Given the description of an element on the screen output the (x, y) to click on. 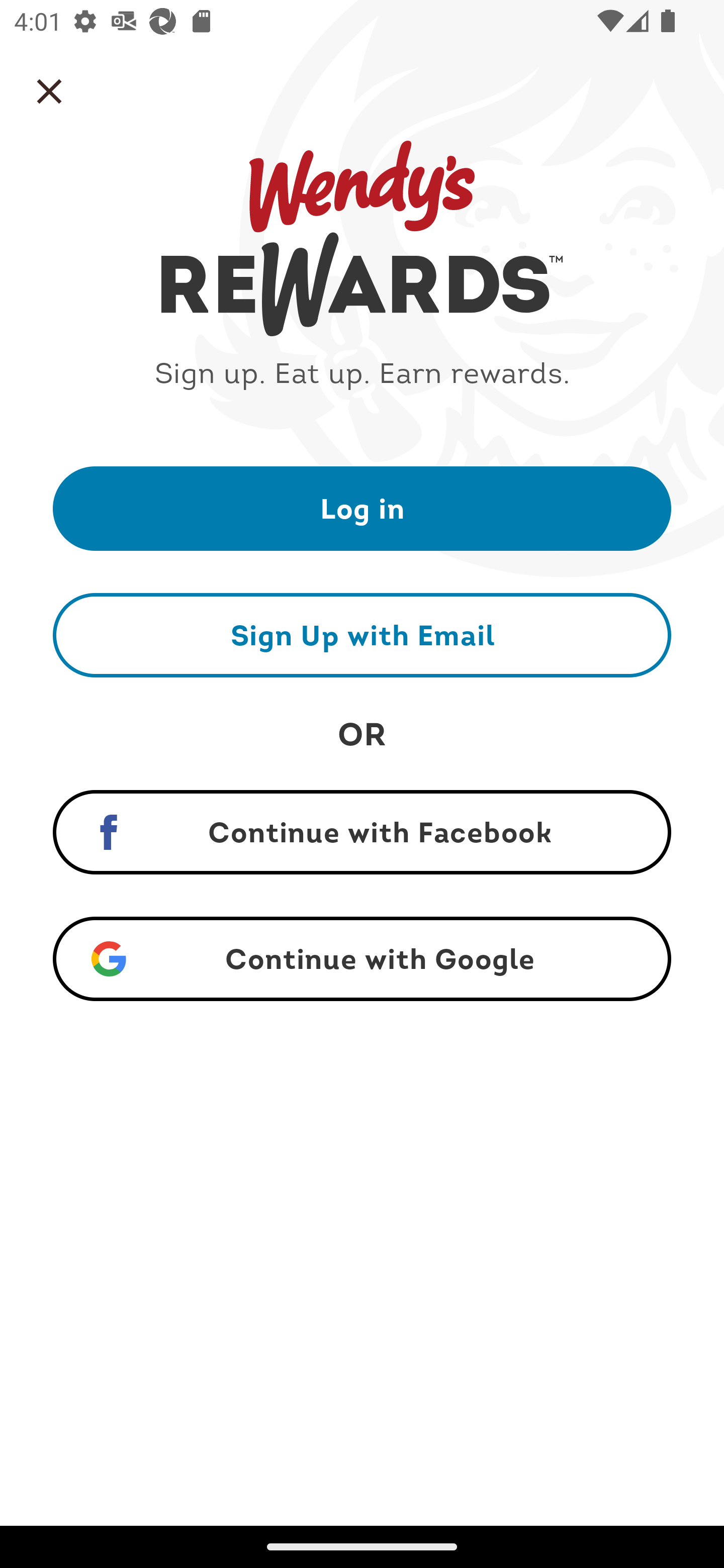
close (49, 91)
Log in (361, 507)
Sign Up with Email (361, 634)
Continue with Facebook (361, 832)
Continue with Google (361, 958)
